Given the description of an element on the screen output the (x, y) to click on. 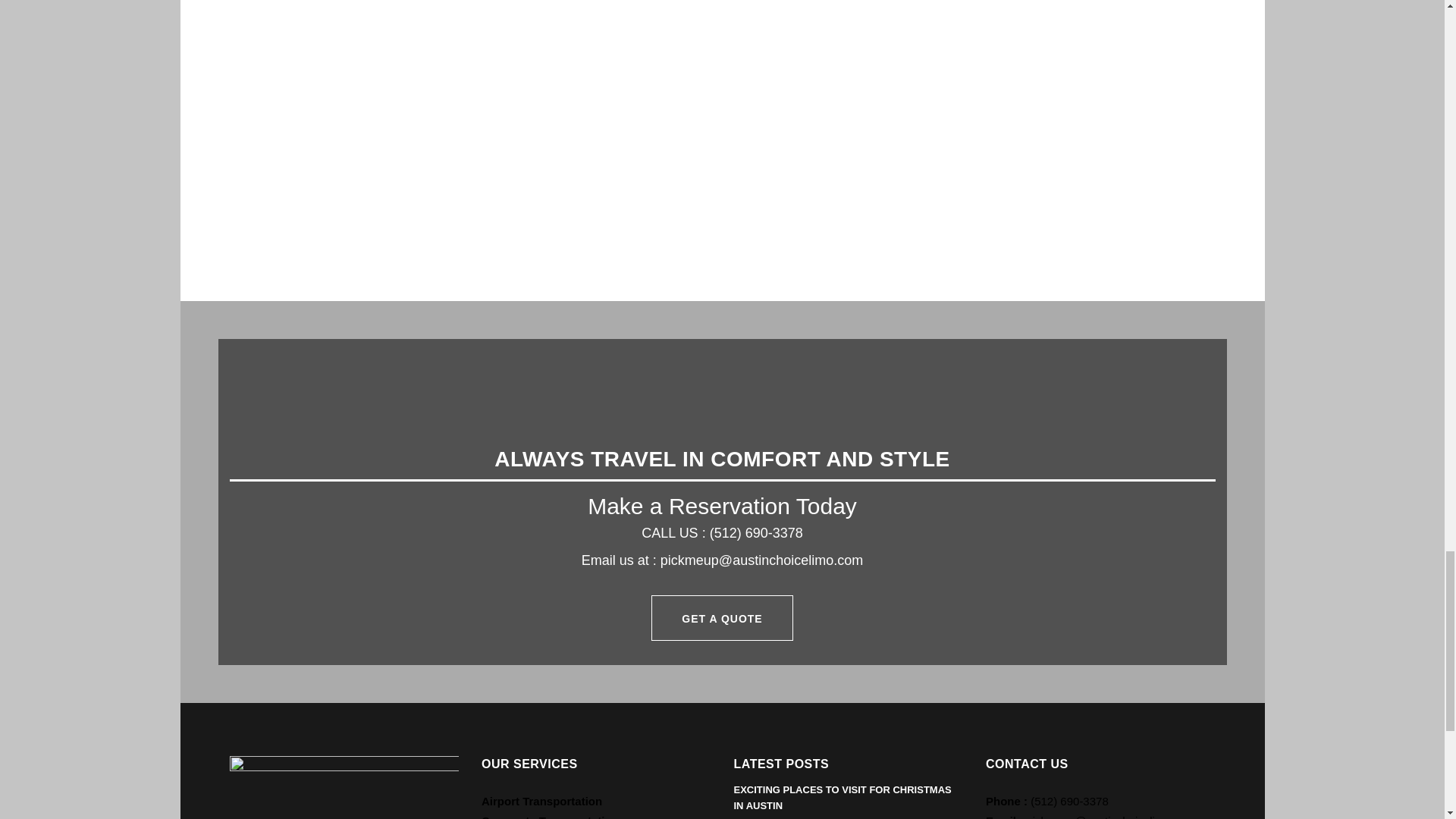
EXCITING PLACES TO VISIT FOR CHRISTMAS IN AUSTIN (842, 797)
GET A QUOTE (721, 617)
